Given the description of an element on the screen output the (x, y) to click on. 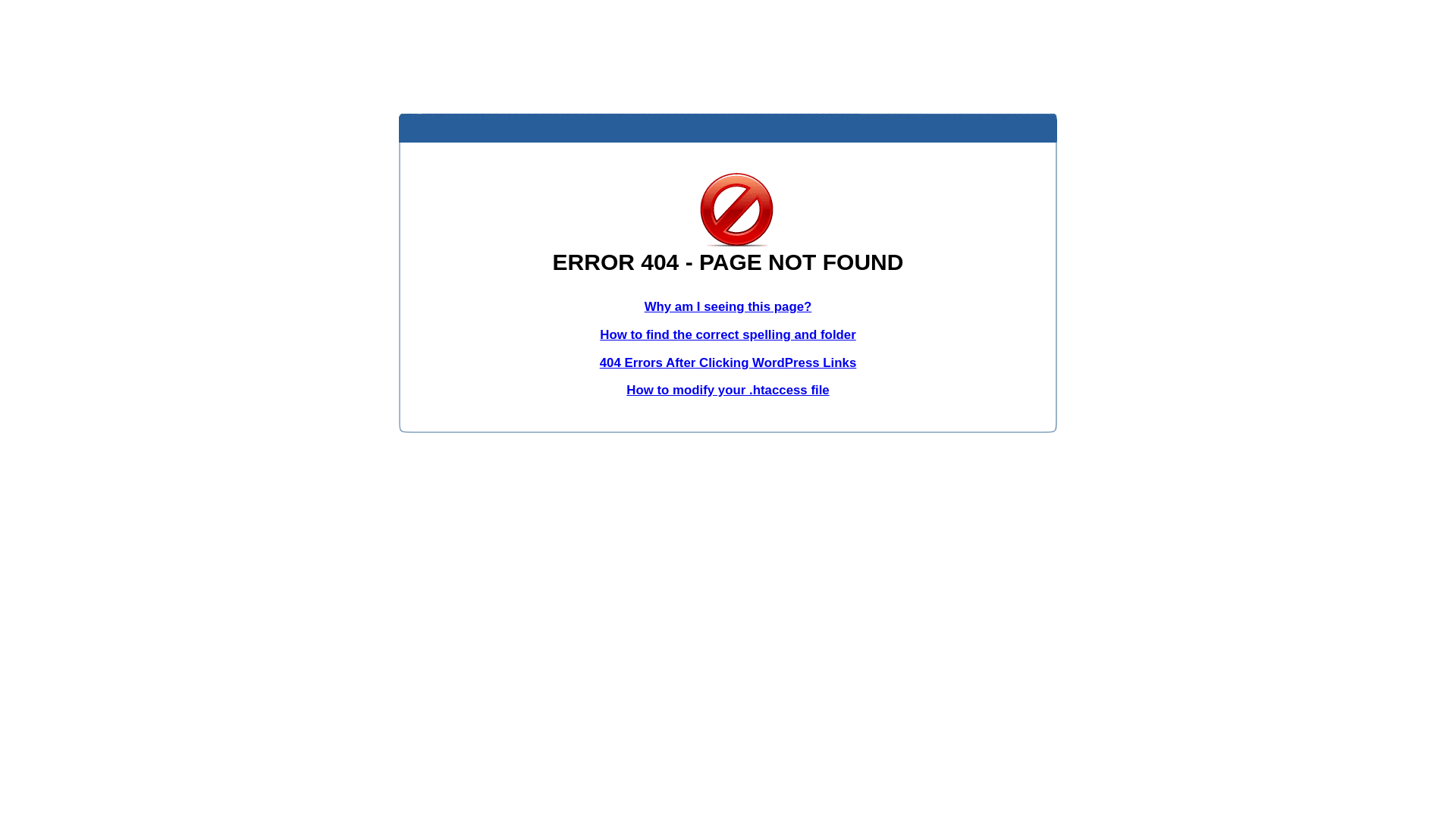
404 Errors After Clicking WordPress Links Element type: text (727, 362)
How to modify your .htaccess file Element type: text (727, 389)
How to find the correct spelling and folder Element type: text (727, 334)
Why am I seeing this page? Element type: text (728, 306)
